Given the description of an element on the screen output the (x, y) to click on. 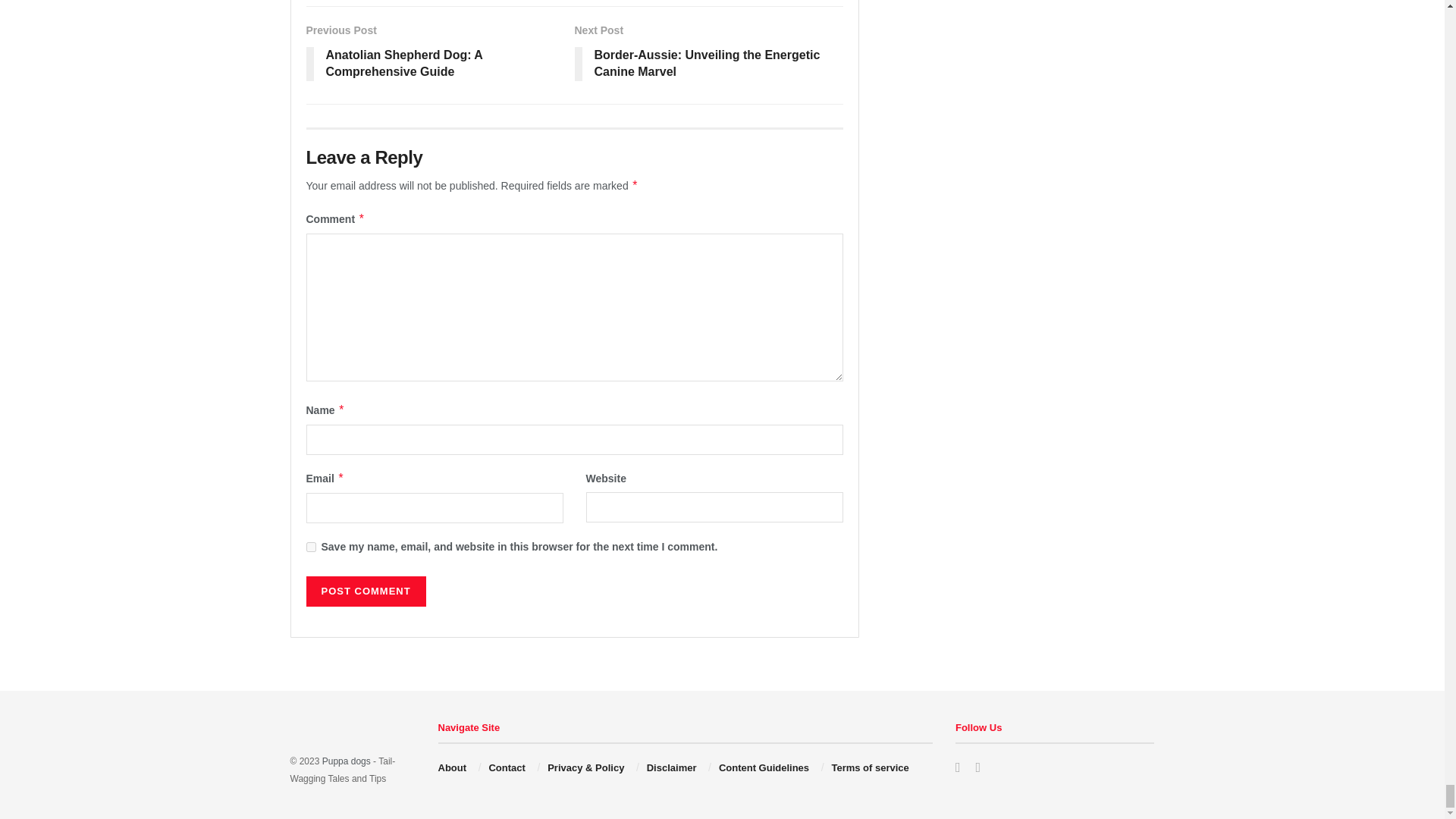
yes (310, 547)
Post Comment (365, 591)
